Given the description of an element on the screen output the (x, y) to click on. 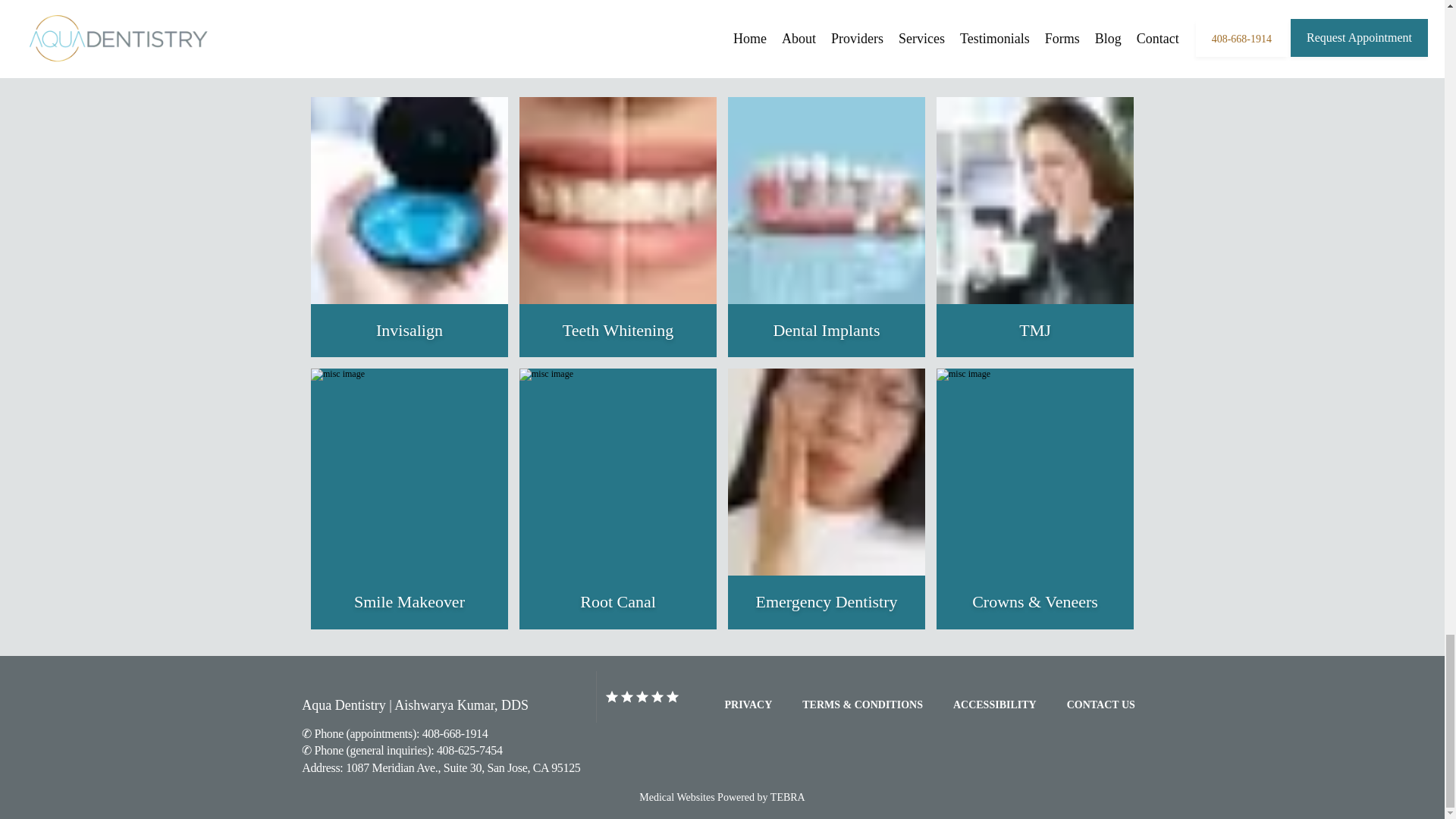
Invisalign (408, 331)
TMJ (1035, 331)
Root Canal (617, 602)
Dental Implants (826, 331)
Teeth Whitening (617, 331)
Emergency Dentistry (825, 602)
PRIVACY (749, 704)
Smile Makeover (408, 602)
